Given the description of an element on the screen output the (x, y) to click on. 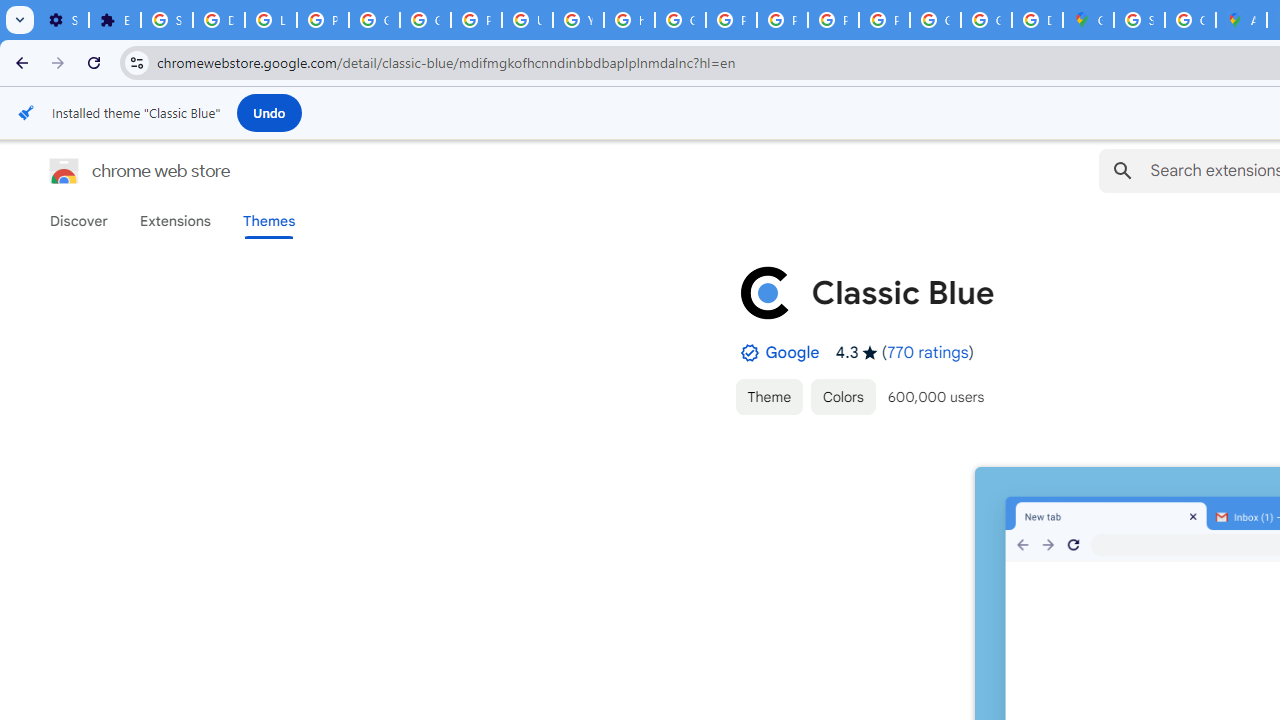
Extensions (174, 221)
Theme (768, 396)
Themes (269, 221)
Undo (269, 112)
Google Account Help (374, 20)
Sign in - Google Accounts (1138, 20)
Sign in - Google Accounts (166, 20)
https://scholar.google.com/ (629, 20)
